Given the description of an element on the screen output the (x, y) to click on. 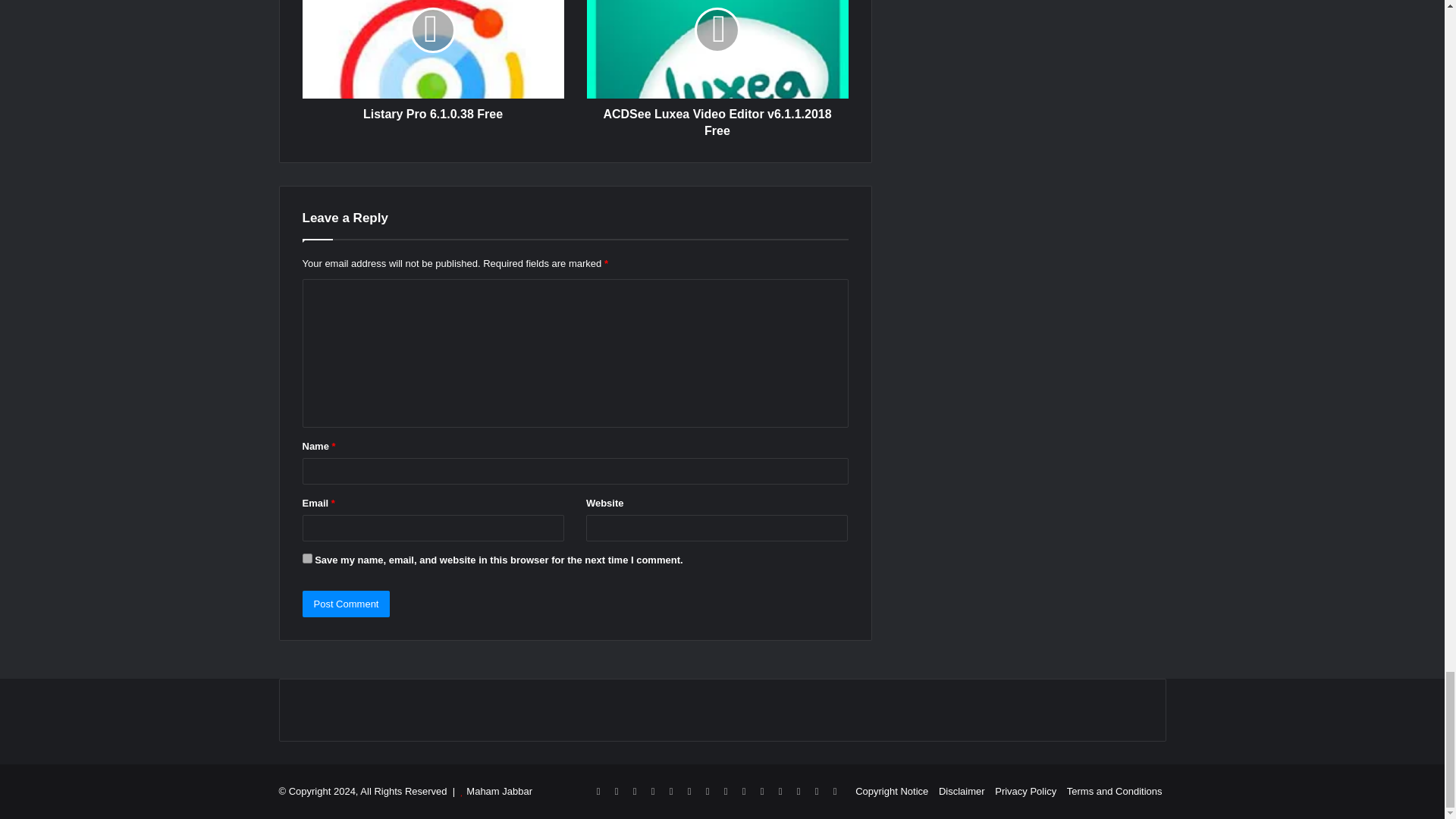
yes (306, 558)
Post Comment (345, 603)
